Given the description of an element on the screen output the (x, y) to click on. 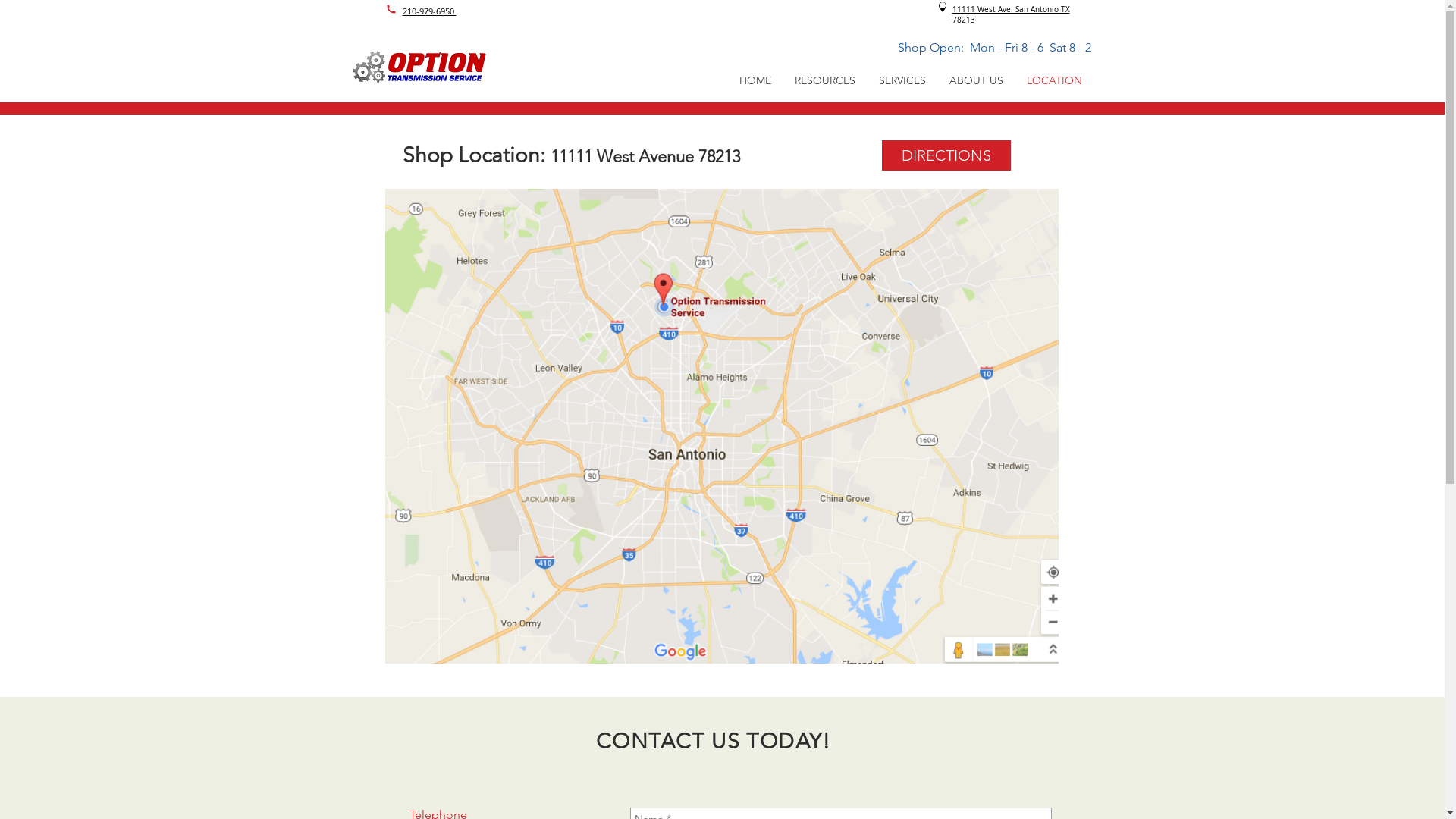
210-979-6950  Element type: text (428, 10)
HOME Element type: text (754, 80)
DIRECTIONS Element type: text (945, 155)
11111 West Ave. San Antonio TX 78213 Element type: text (1011, 14)
LOCATION Element type: text (1053, 80)
ABOUT US Element type: text (975, 80)
logo1.png Element type: hover (419, 65)
